Given the description of an element on the screen output the (x, y) to click on. 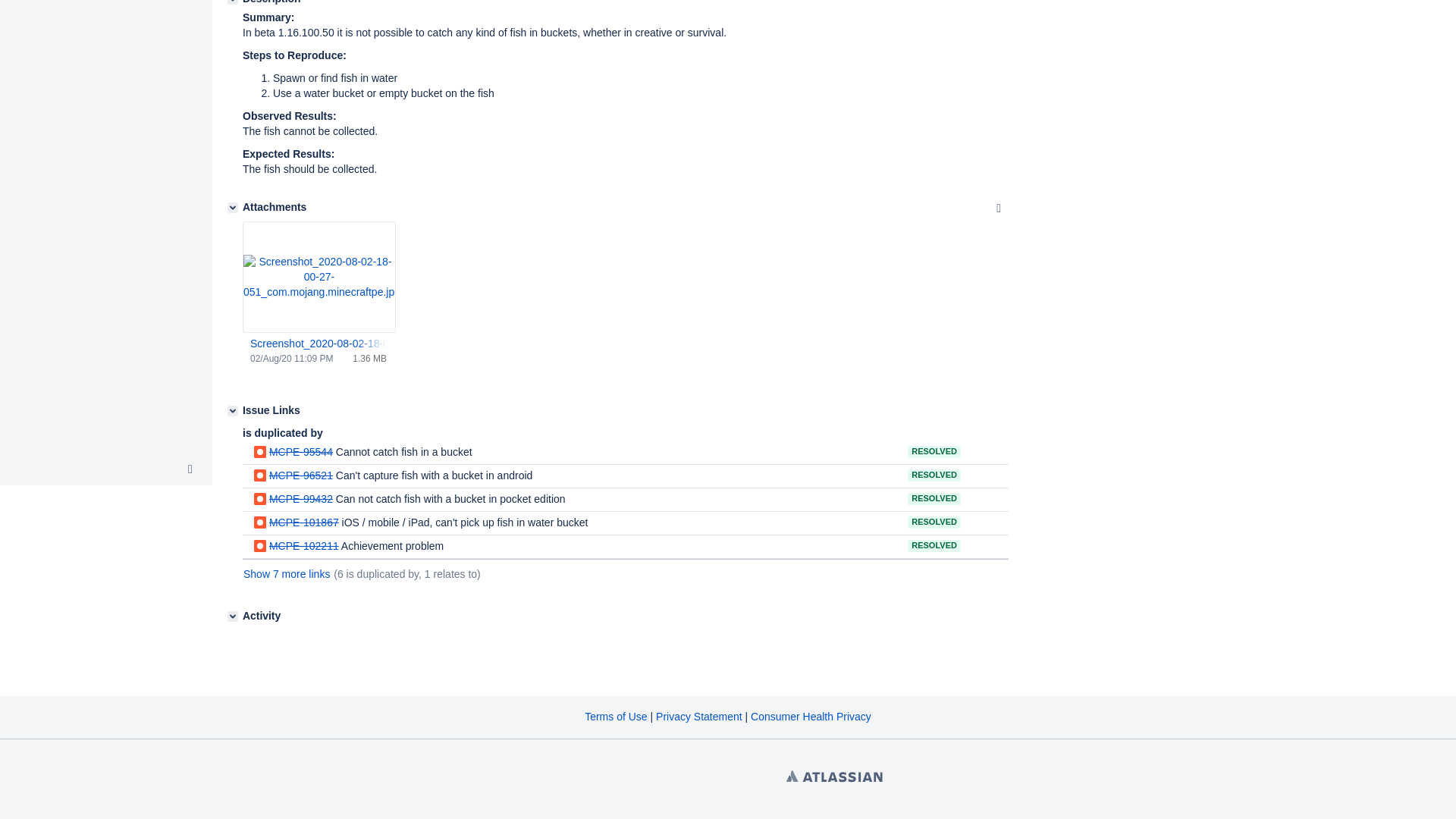
Attachments (232, 207)
Options (998, 208)
Description (232, 2)
